Given the description of an element on the screen output the (x, y) to click on. 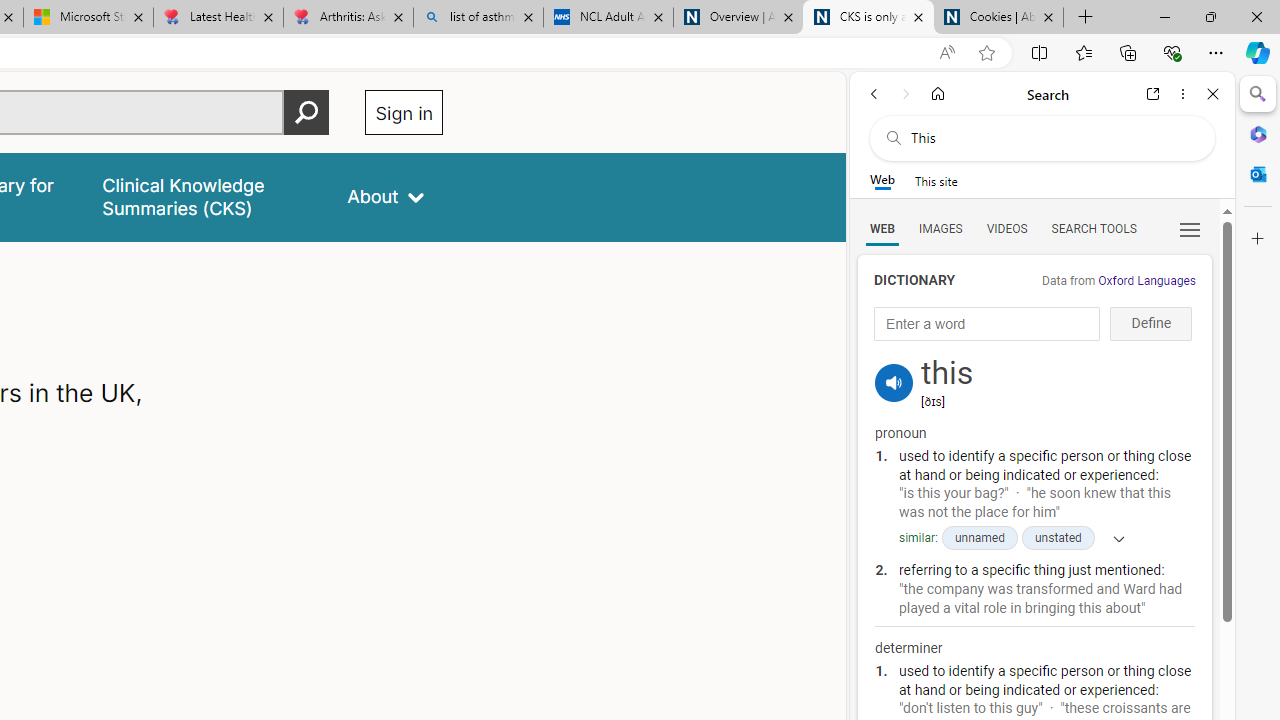
CKS is only available in the UK | NICE (868, 17)
pronounce (893, 382)
false (207, 196)
